Given the description of an element on the screen output the (x, y) to click on. 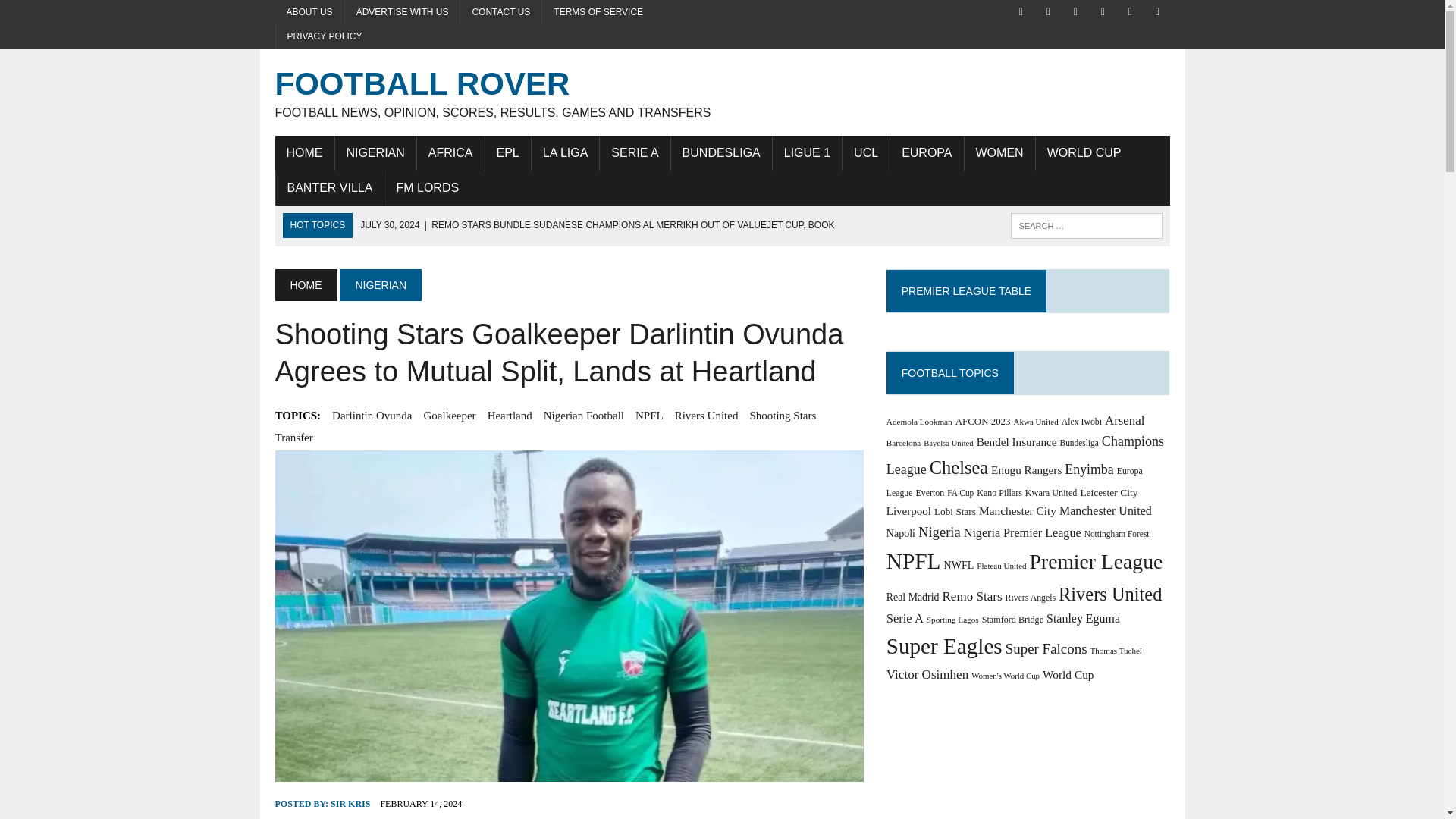
Darlintin Ovunda (371, 415)
EPL (507, 152)
NPFL (648, 415)
FM LORDS (427, 187)
BUNDESLIGA (721, 152)
NIGERIAN (375, 152)
HOME (304, 152)
WOMEN (999, 152)
NIGERIAN (380, 285)
Transfer (294, 437)
ADVERTISE WITH US (402, 12)
BANTER VILLA (330, 187)
LIGUE 1 (807, 152)
Football Rover (722, 91)
Goalkeeper (449, 415)
